Given the description of an element on the screen output the (x, y) to click on. 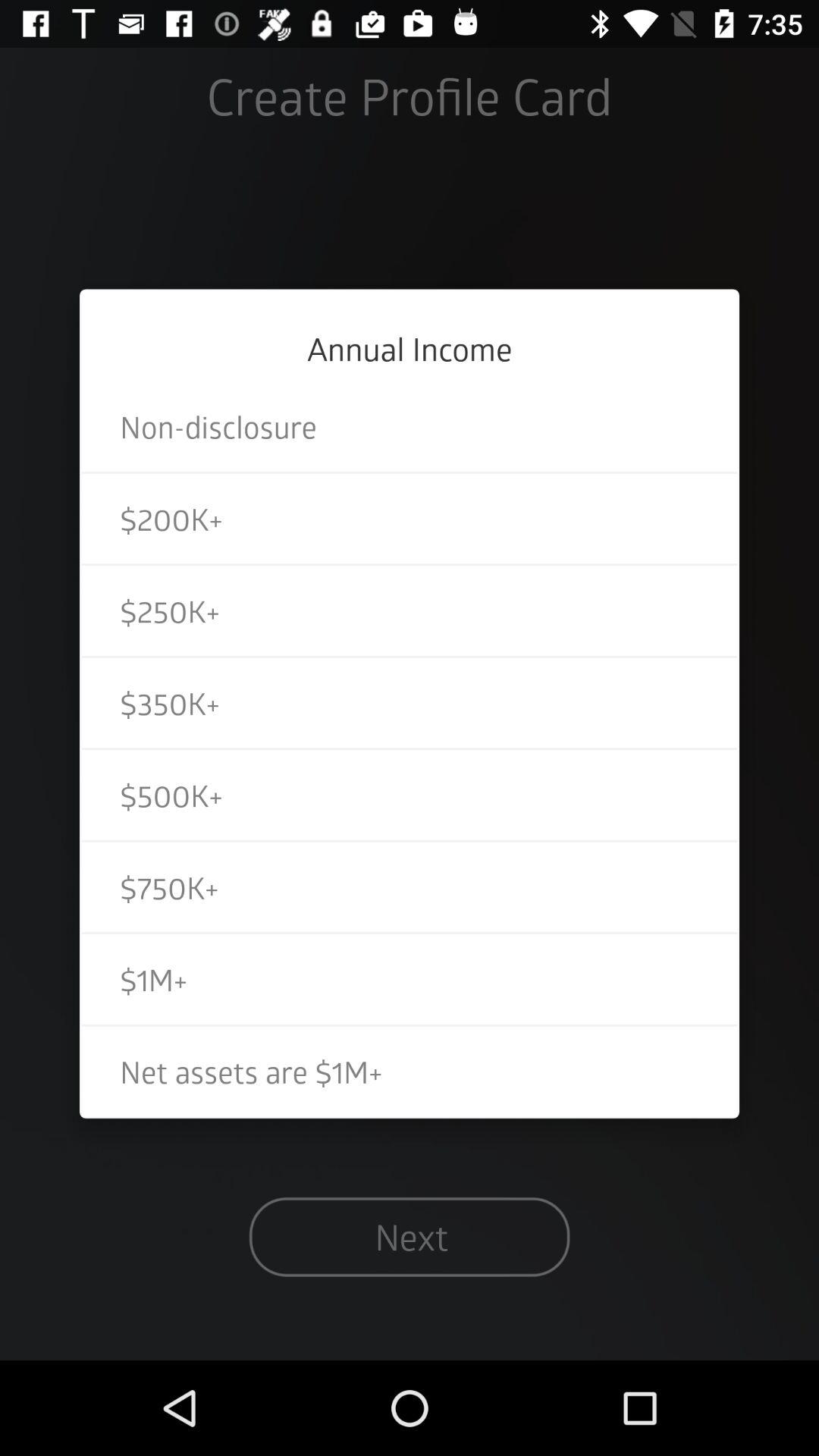
scroll until $200k+ (409, 518)
